Given the description of an element on the screen output the (x, y) to click on. 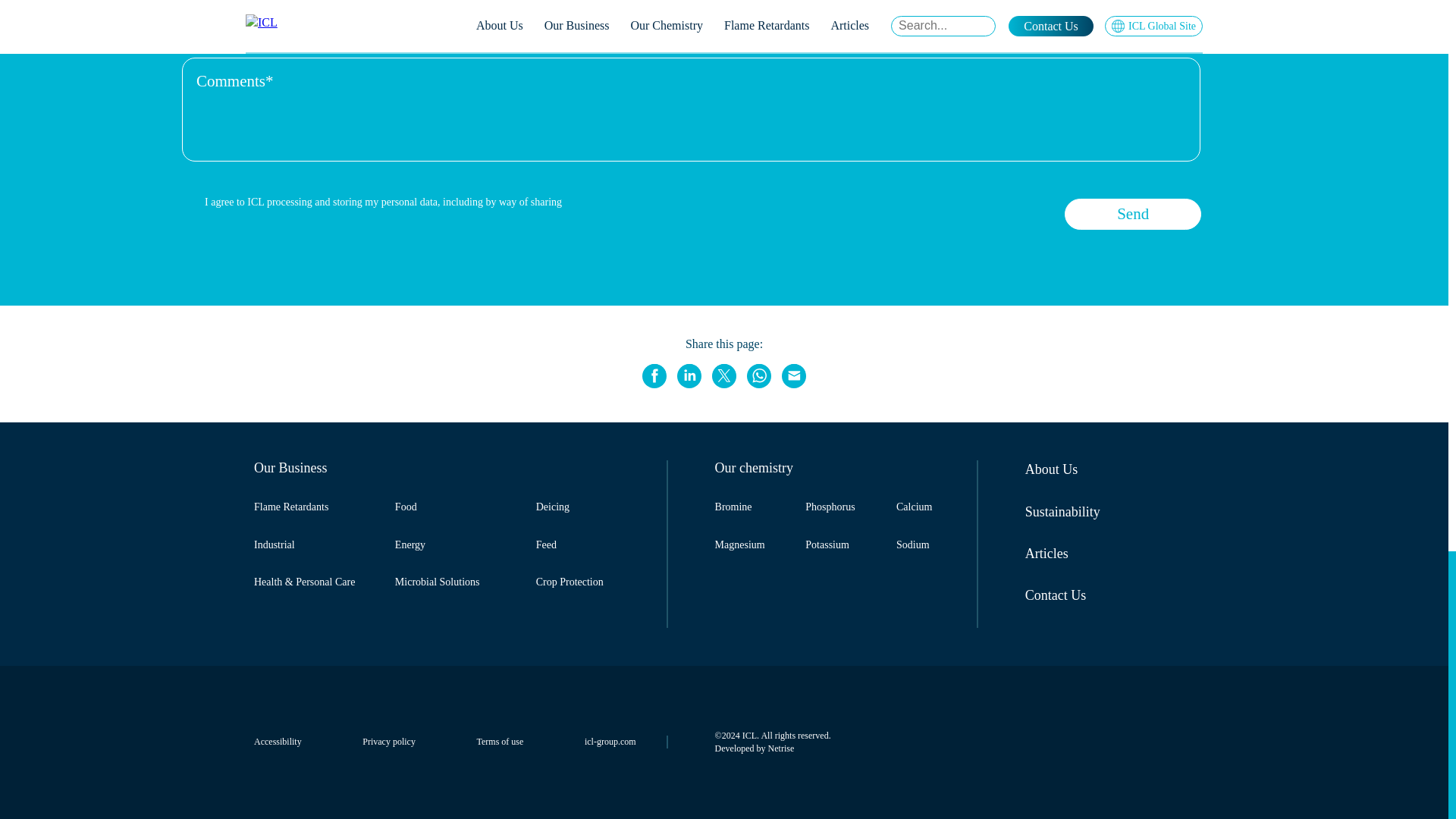
Click to share this info on Twitter (723, 375)
Send (1132, 214)
Share by Email (793, 375)
